Given the description of an element on the screen output the (x, y) to click on. 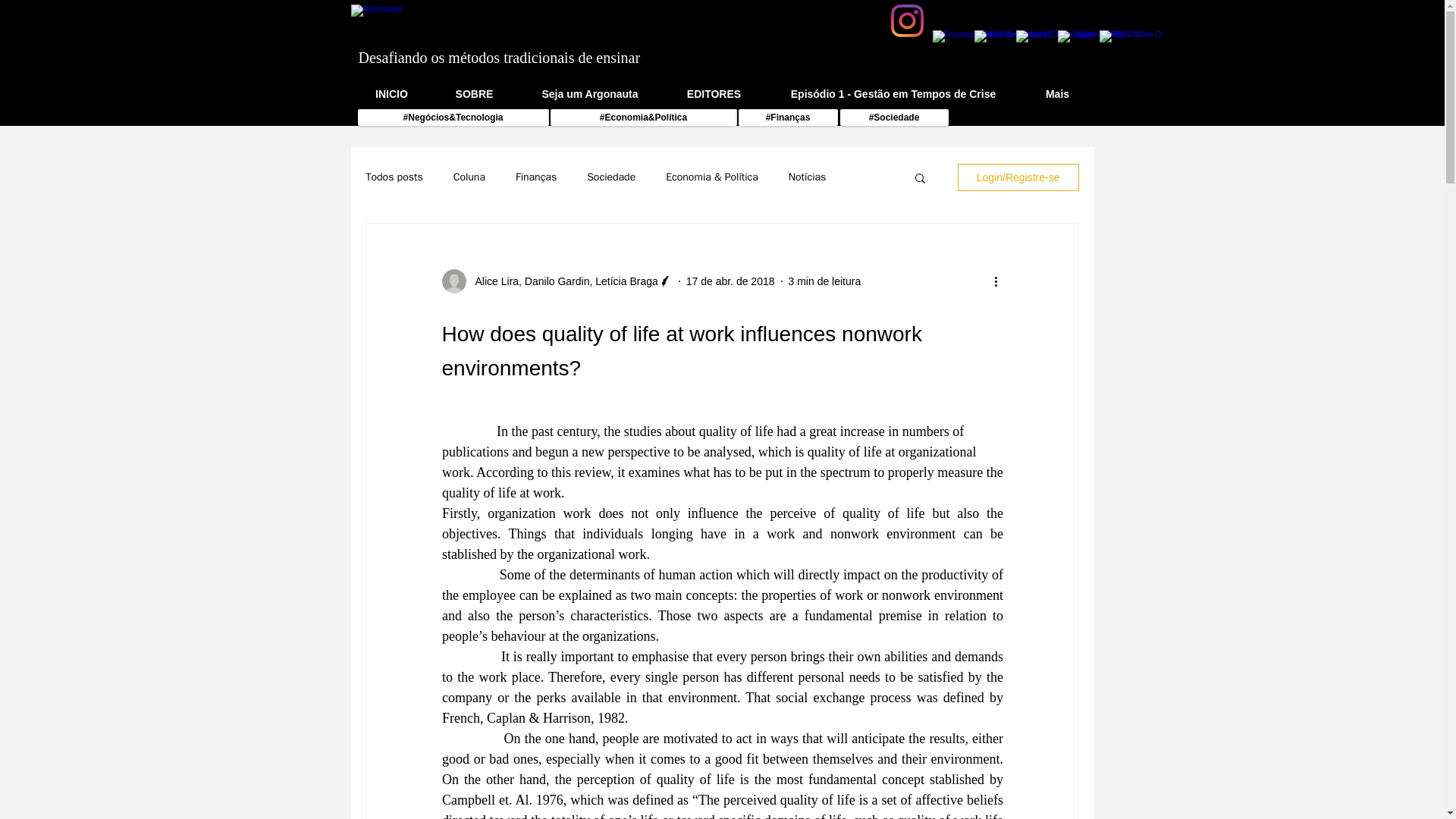
Seja um Argonauta (589, 93)
INICIO (392, 93)
17 de abr. de 2018 (729, 280)
3 min de leitura (825, 280)
Sociedade (610, 177)
Aronautasnarede (506, 22)
Coluna (468, 177)
SOBRE (474, 93)
EDITORES (713, 93)
Todos posts (393, 177)
